Given the description of an element on the screen output the (x, y) to click on. 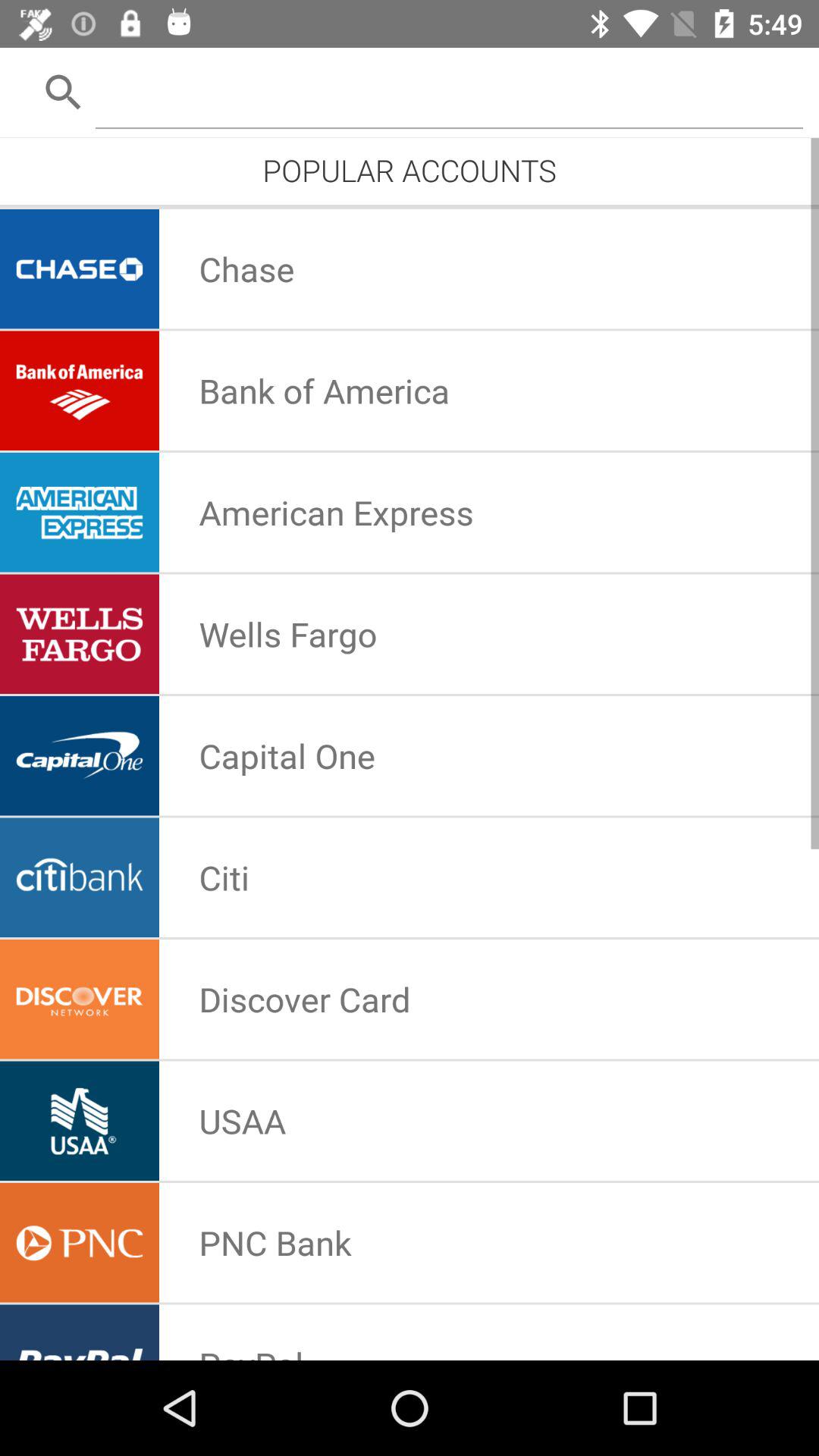
select app below wells fargo icon (287, 755)
